Given the description of an element on the screen output the (x, y) to click on. 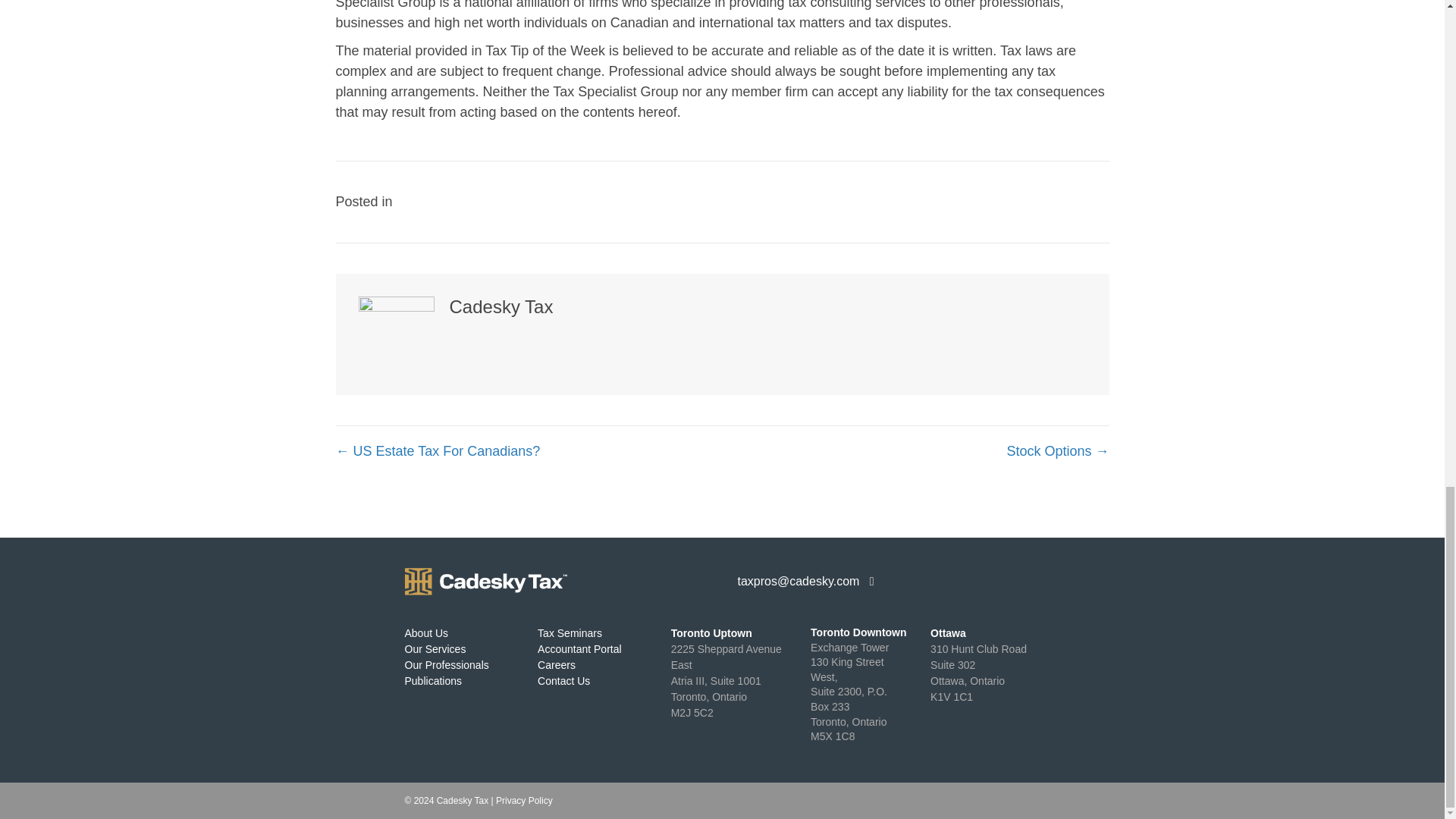
Privacy Policy (978, 672)
Tax Seminars (524, 800)
Publications (569, 633)
Our Professionals (433, 680)
Contact Us (446, 664)
About Us (563, 680)
Accountant Portal (426, 633)
Our Services (579, 648)
